Given the description of an element on the screen output the (x, y) to click on. 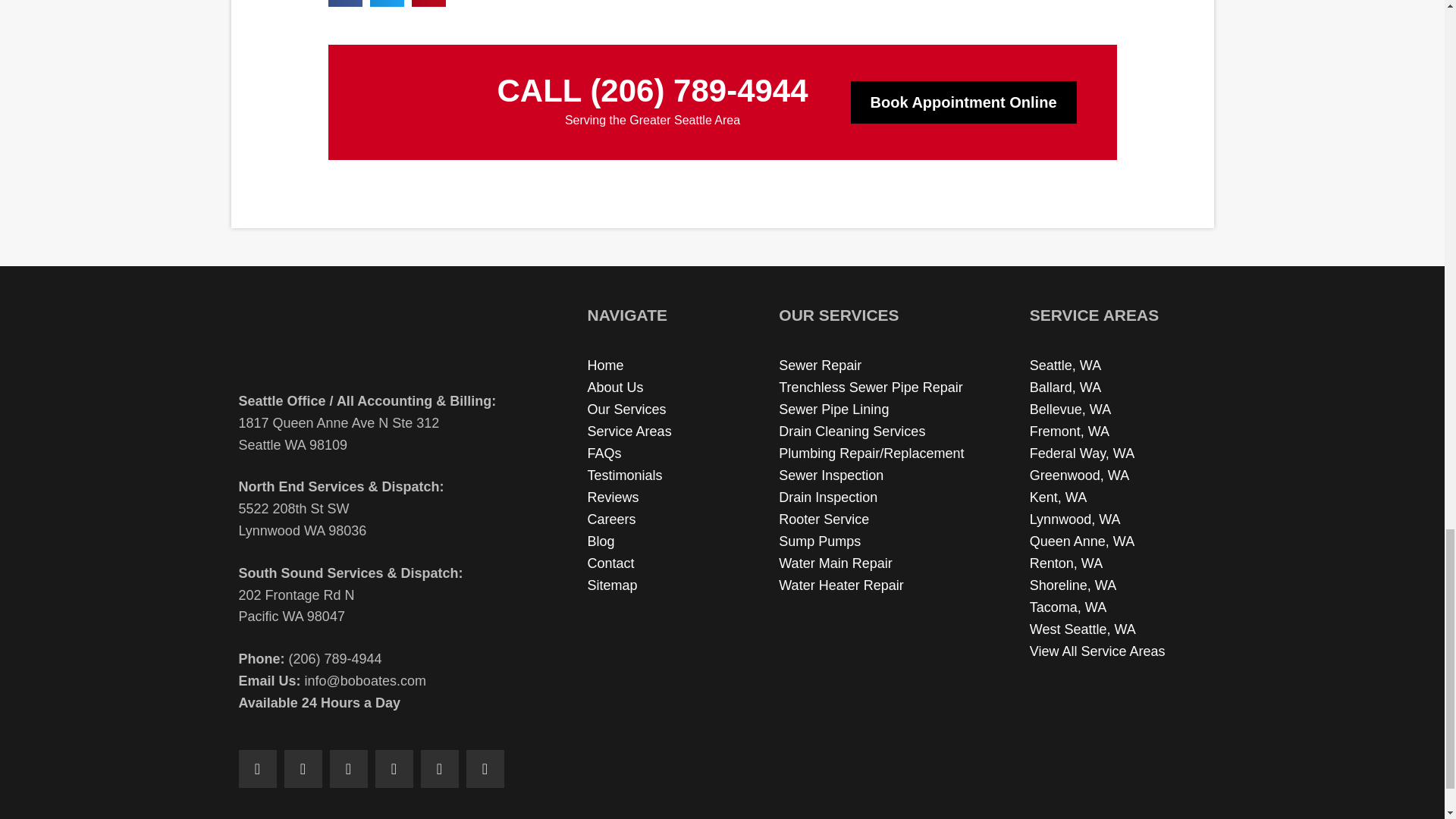
bob-oates-seattle-wa-white (411, 102)
Bob Oates (371, 339)
